Given the description of an element on the screen output the (x, y) to click on. 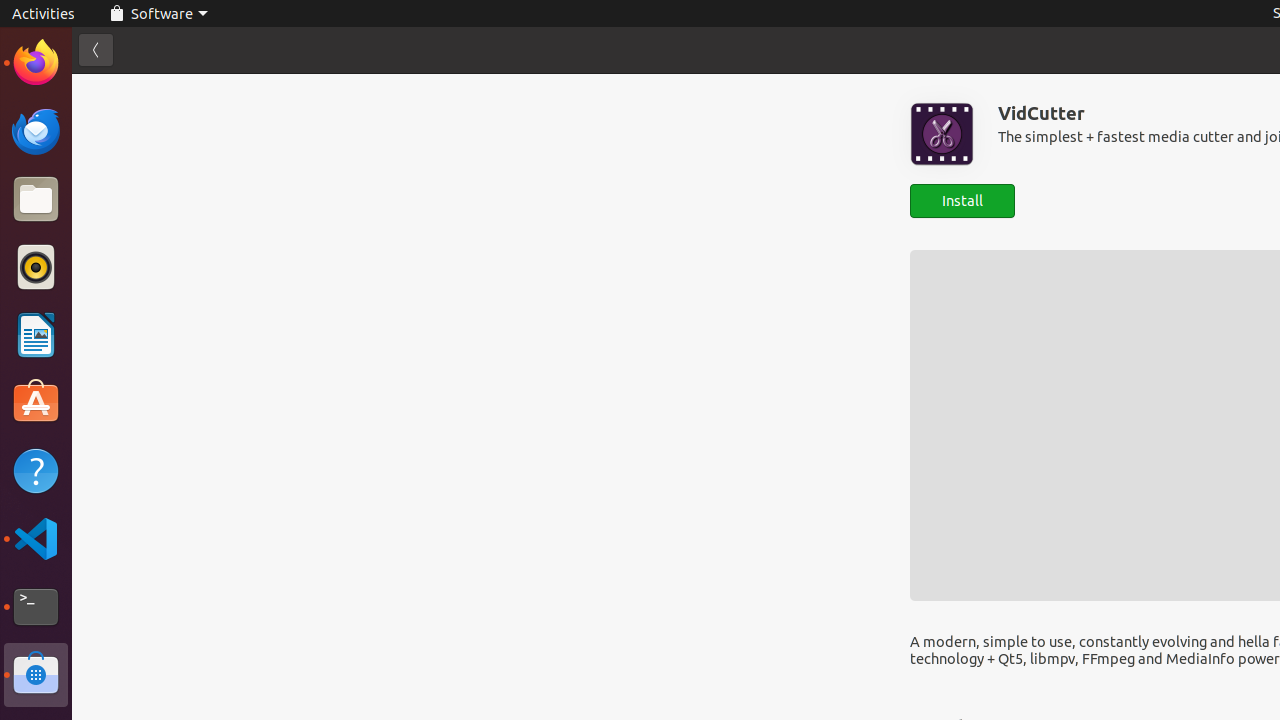
li.txt Element type: label (259, 89)
Activities Element type: label (43, 13)
